Given the description of an element on the screen output the (x, y) to click on. 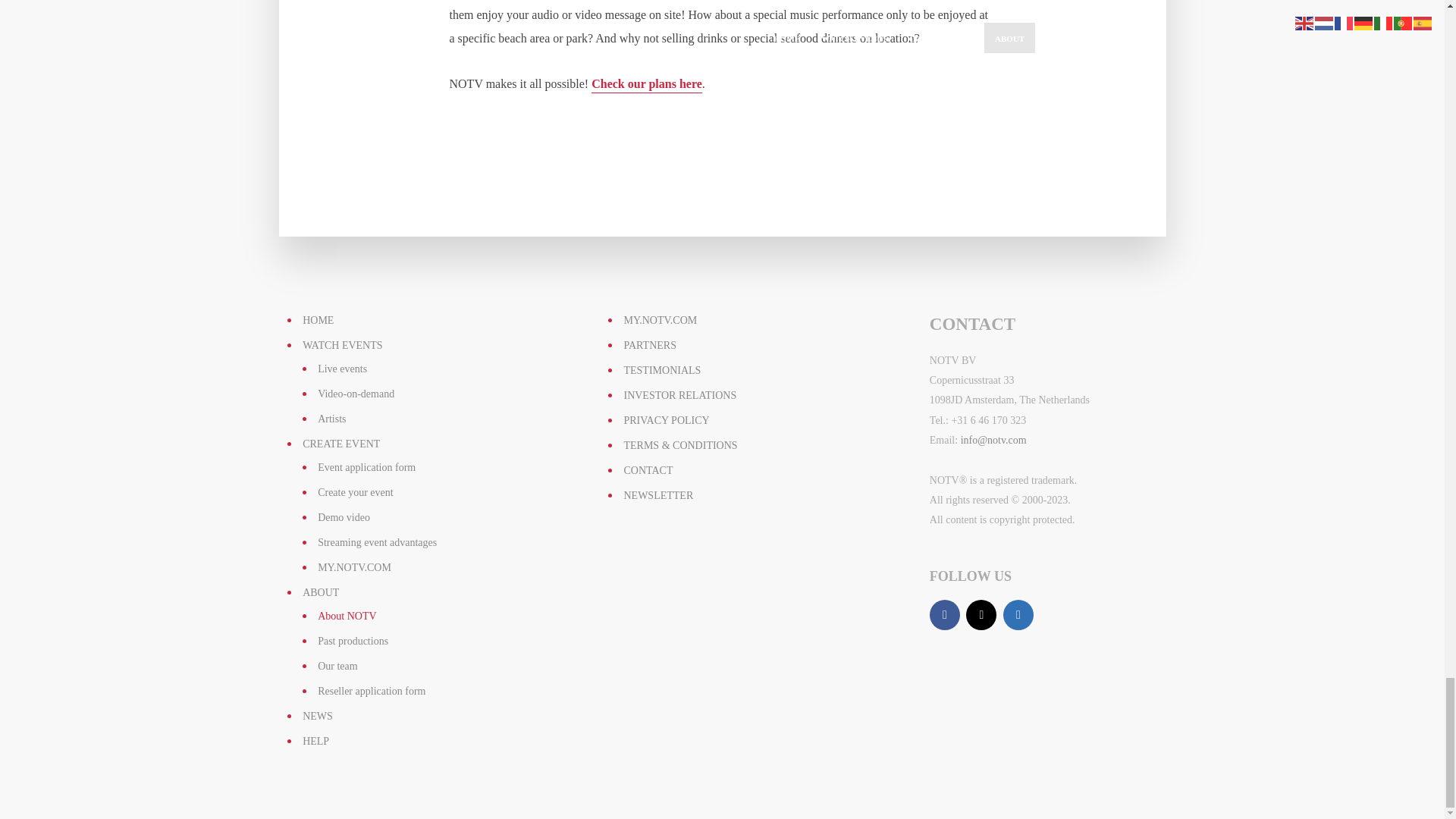
MY.NOTV.COM (354, 567)
Streaming event advantages (376, 542)
Live events (341, 368)
Event application form (365, 467)
Check our plans here (646, 84)
Instagram (980, 614)
Artists (331, 419)
Create your event (355, 491)
Facebook (944, 614)
Linkedin (1018, 614)
Video-on-demand (355, 393)
About NOTV (346, 615)
WATCH EVENTS (341, 345)
ABOUT (320, 592)
HOME (317, 319)
